Given the description of an element on the screen output the (x, y) to click on. 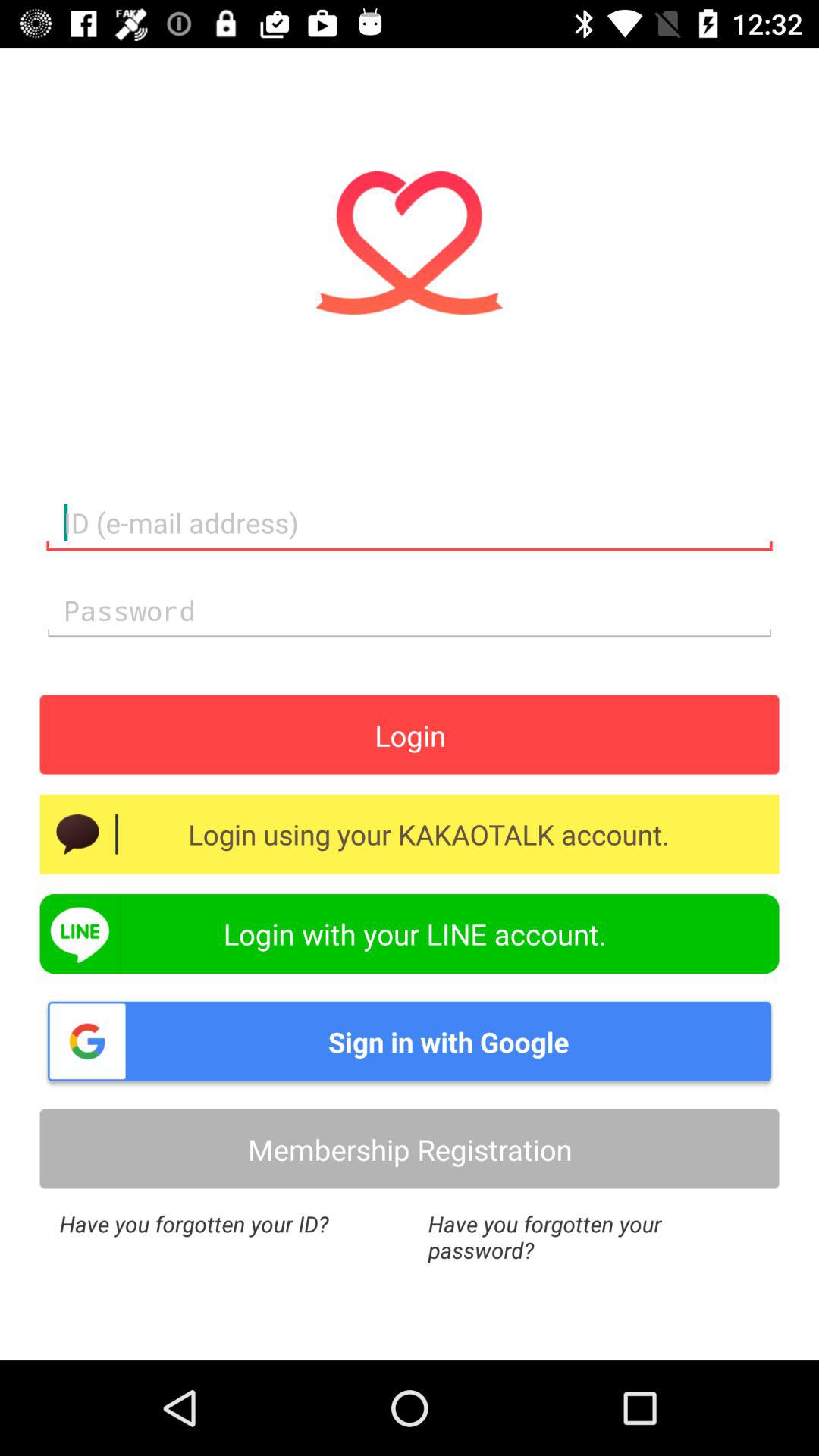
flip to the sign in with item (409, 1041)
